Given the description of an element on the screen output the (x, y) to click on. 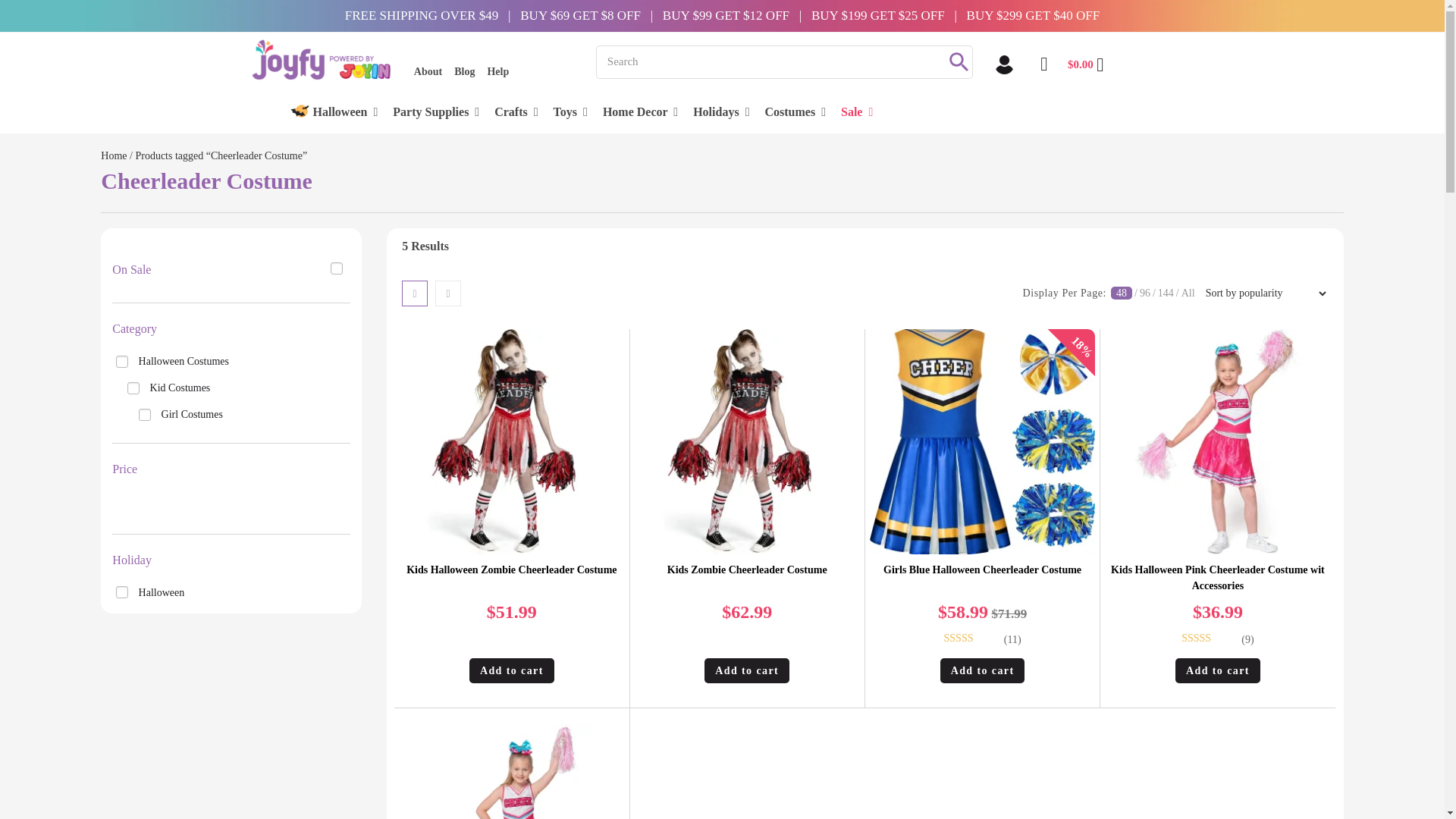
1 (336, 268)
kid-costumes (133, 387)
joyfy-powered-by-joyin-logo (327, 53)
Blog (464, 71)
Grid view (414, 293)
halloween (122, 592)
halloween-costumes (122, 360)
List view (448, 293)
Help (497, 71)
Halloween   (345, 113)
About (427, 71)
girl-costumes (144, 413)
